Given the description of an element on the screen output the (x, y) to click on. 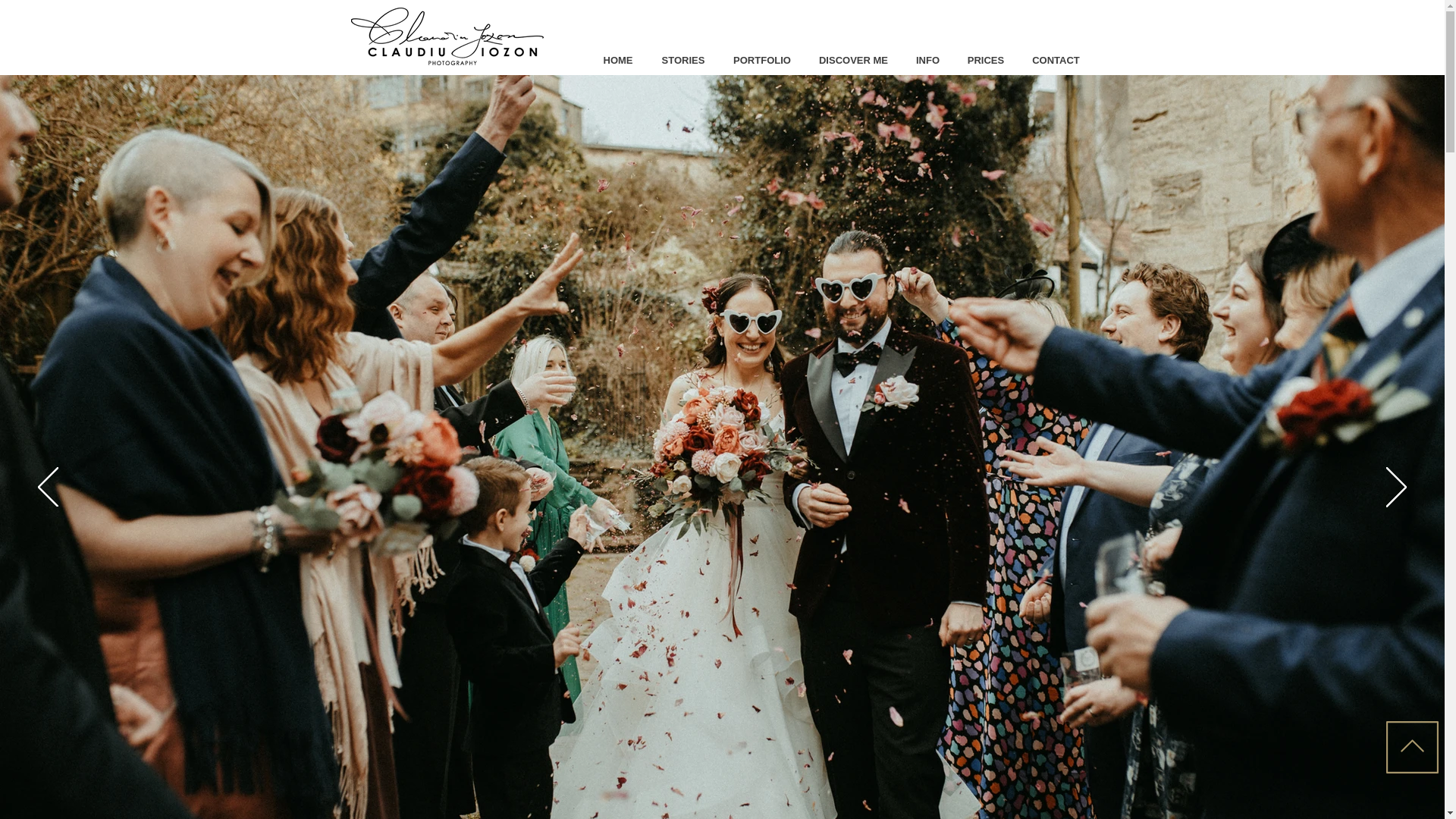
CONTACT (1055, 60)
HOME (617, 60)
PRICES (985, 60)
PORTFOLIO (762, 60)
STORIES (683, 60)
